Given the description of an element on the screen output the (x, y) to click on. 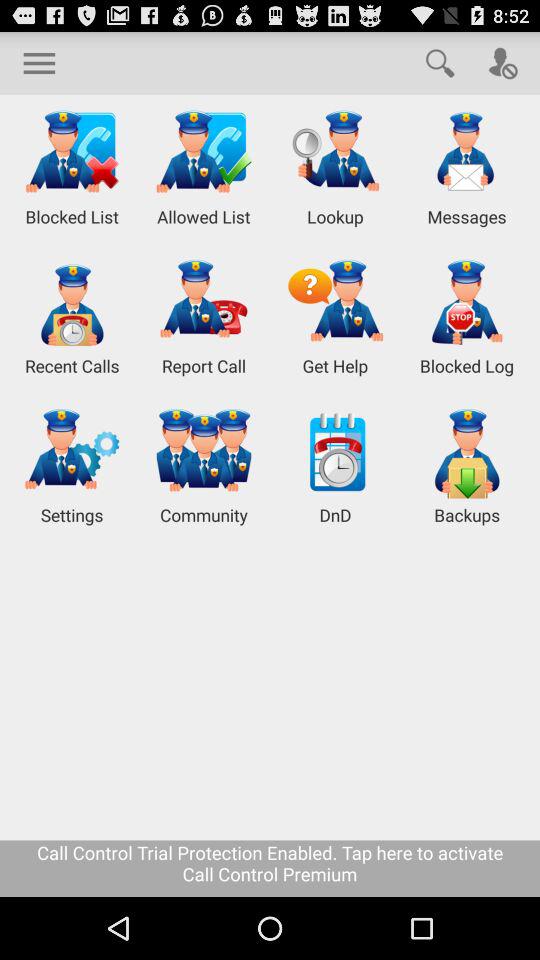
block caller option (502, 62)
